Given the description of an element on the screen output the (x, y) to click on. 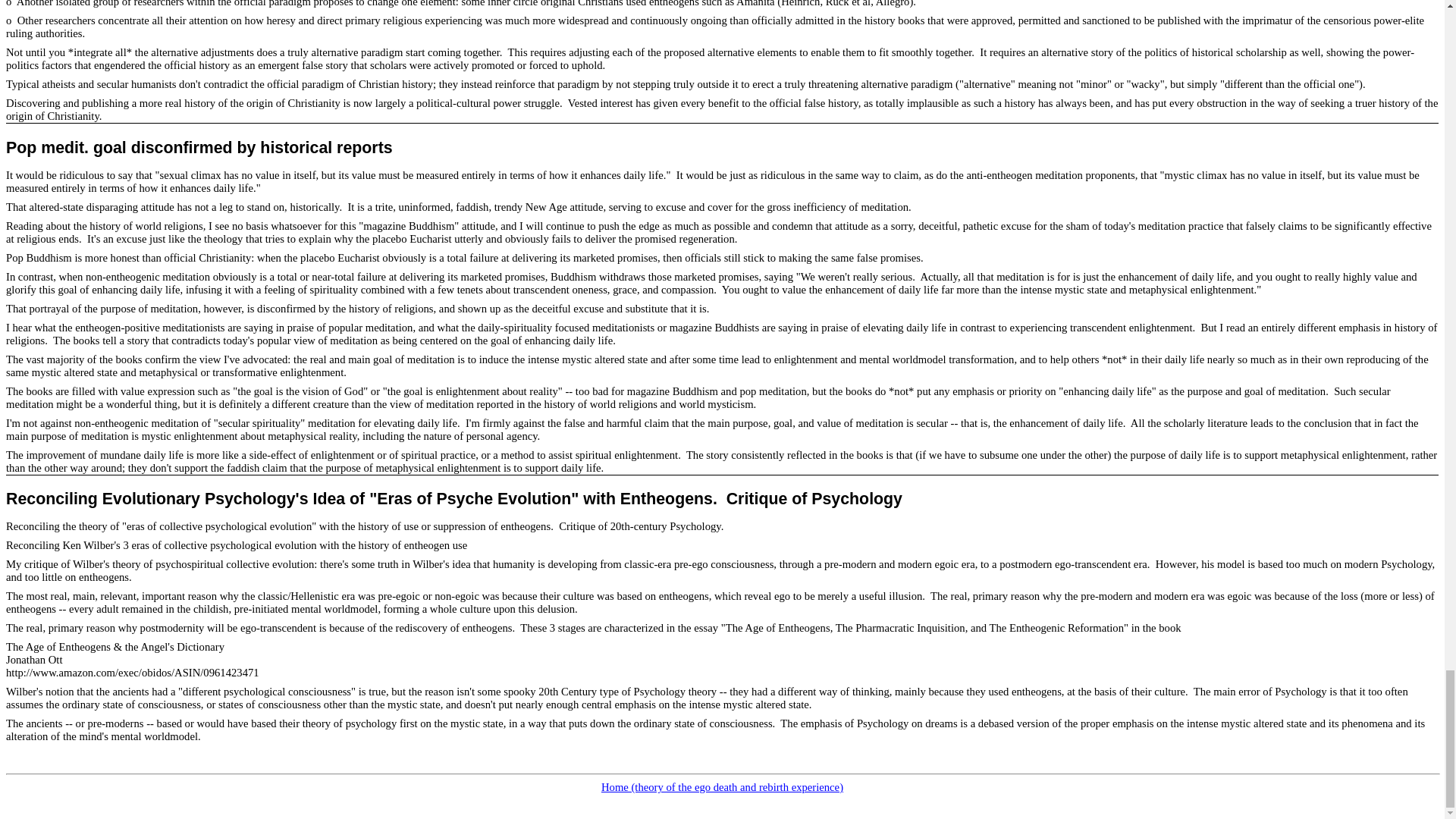
Pop medit. goal disconfirmed by historical reports (199, 147)
